Given the description of an element on the screen output the (x, y) to click on. 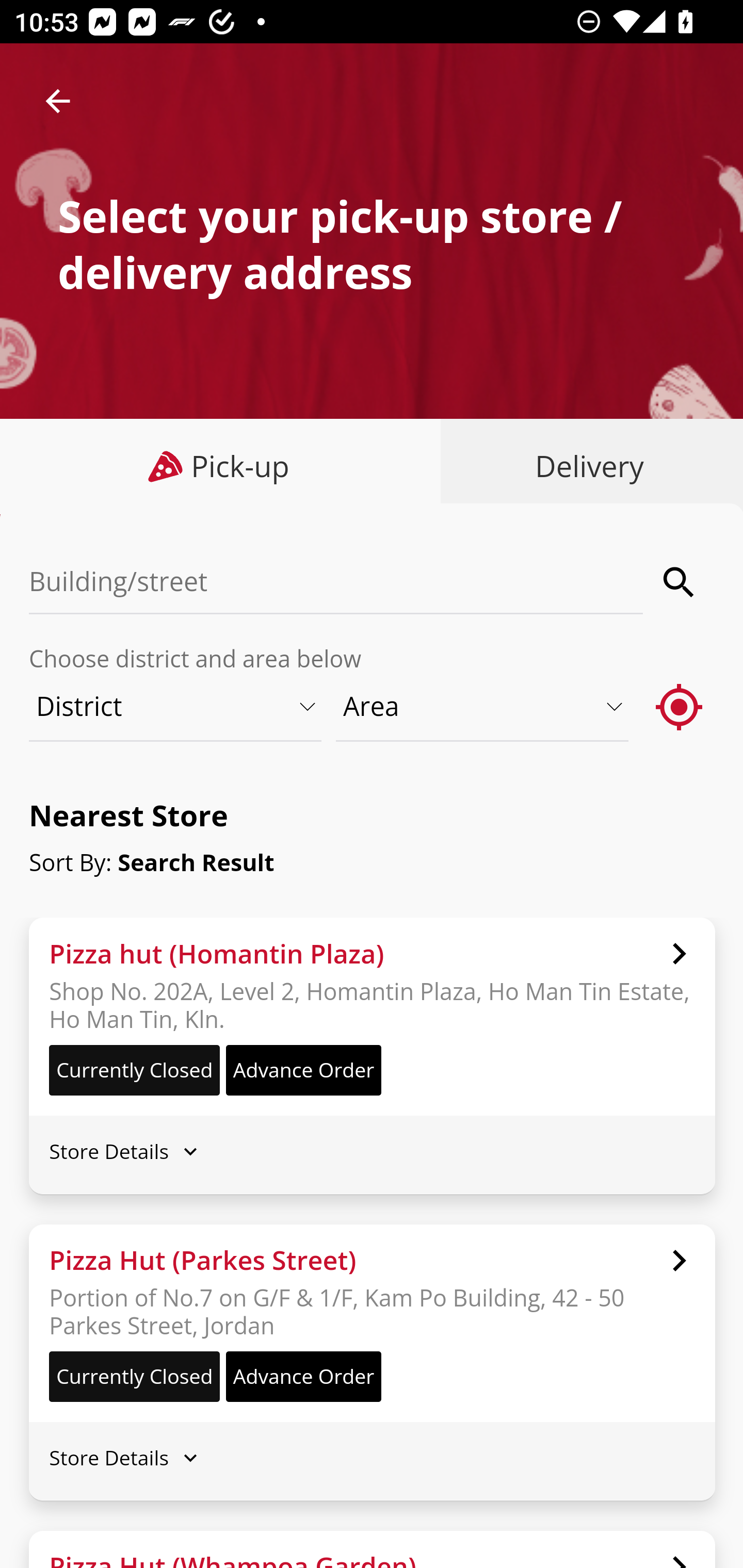
arrow_back (58, 100)
Pick-up (221, 466)
Delivery (585, 466)
search (679, 582)
gps_fixed (679, 706)
District (175, 706)
Area (482, 706)
Store Details (371, 1149)
Store Details (371, 1457)
